Given the description of an element on the screen output the (x, y) to click on. 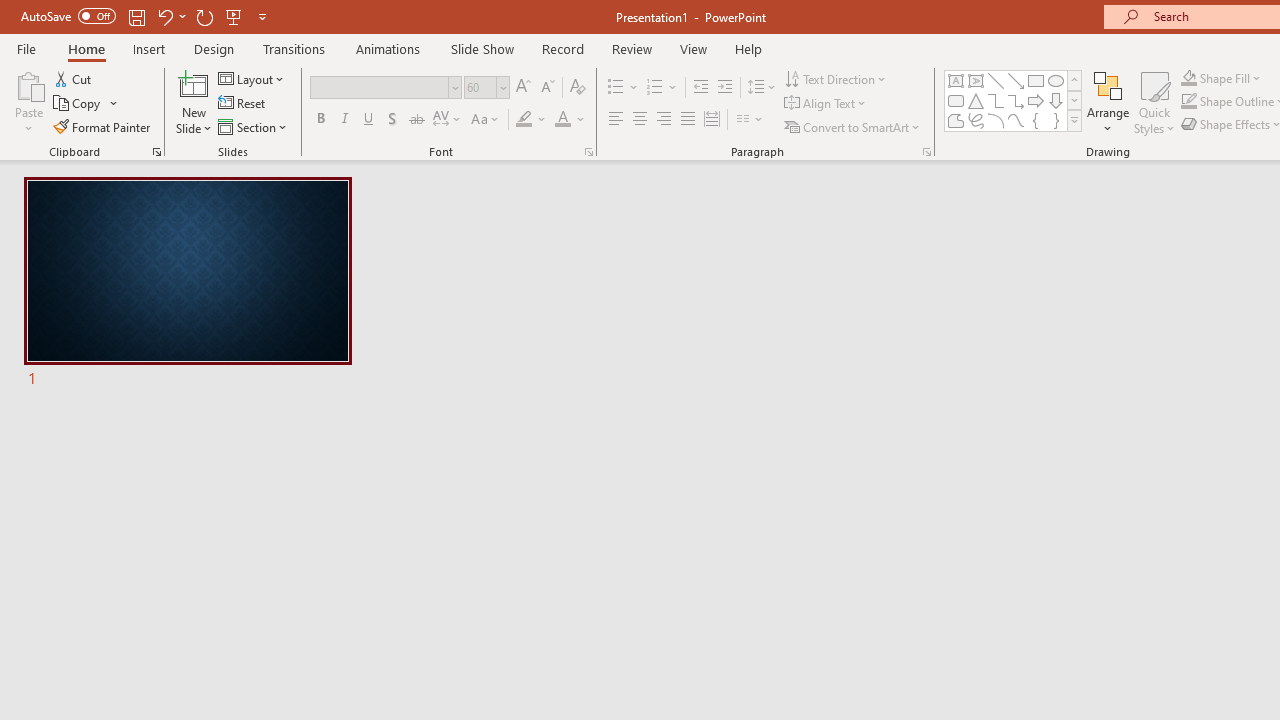
Shape Outline Blue, Accent 1 (1188, 101)
Quick Styles (1154, 102)
Rectangle: Rounded Corners (955, 100)
New Slide (193, 84)
Decrease Indent (700, 87)
Font Color (569, 119)
Freeform: Scribble (975, 120)
Right Brace (1055, 120)
Arrange (1108, 102)
Bold (320, 119)
Line (995, 80)
